Given the description of an element on the screen output the (x, y) to click on. 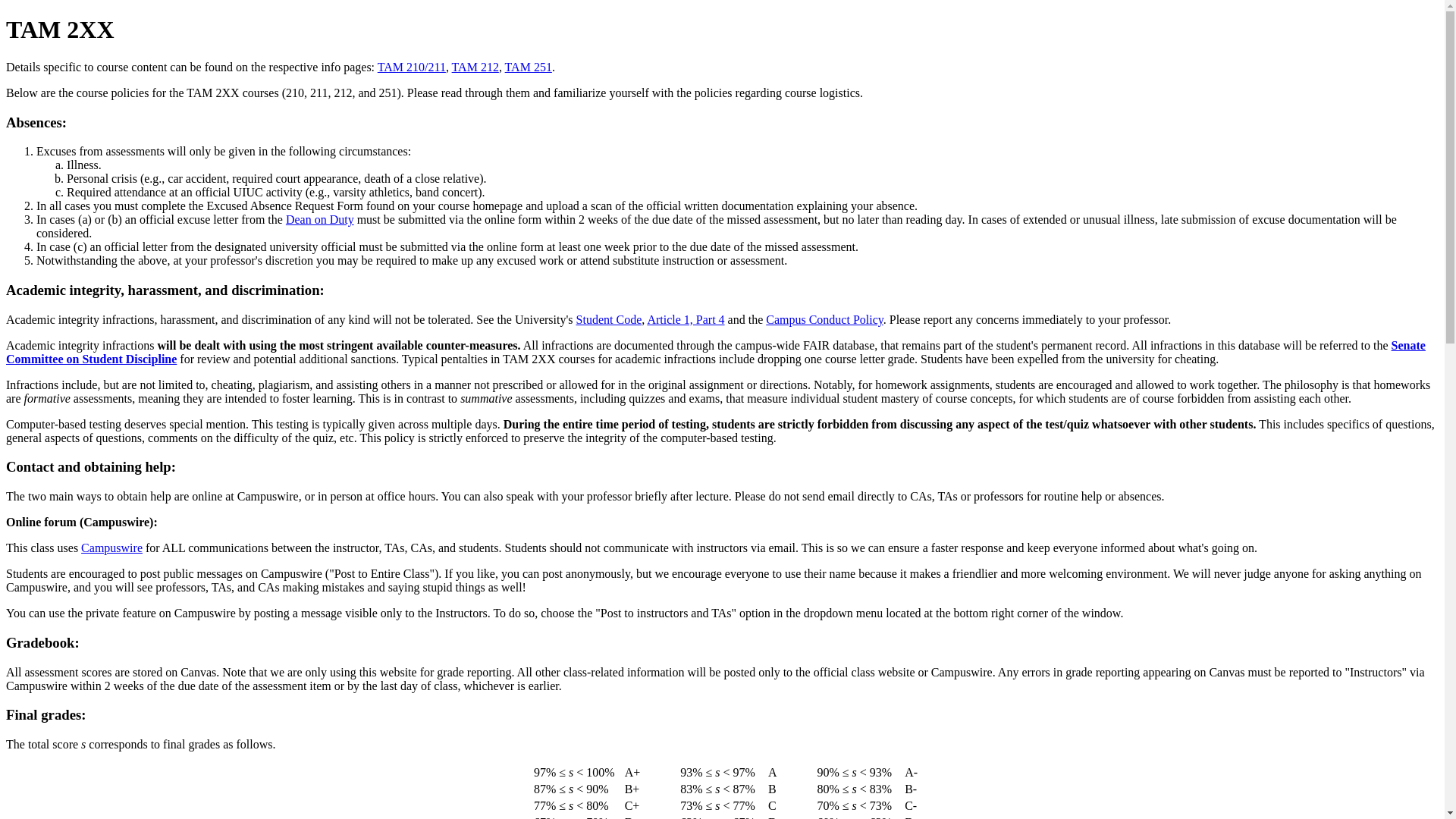
Dean on Duty (319, 219)
Academic integrity, harassment, and discrimination (162, 289)
Final grades (43, 714)
TAM 251 (528, 66)
TAM 212 (475, 66)
Campuswire (111, 547)
Campus Conduct Policy (824, 318)
Senate Committee on Student Discipline (715, 352)
Gradebook (39, 642)
Absences (33, 122)
Student Code (609, 318)
Contact and obtaining help: (90, 466)
Article 1, Part 4 (684, 318)
